Given the description of an element on the screen output the (x, y) to click on. 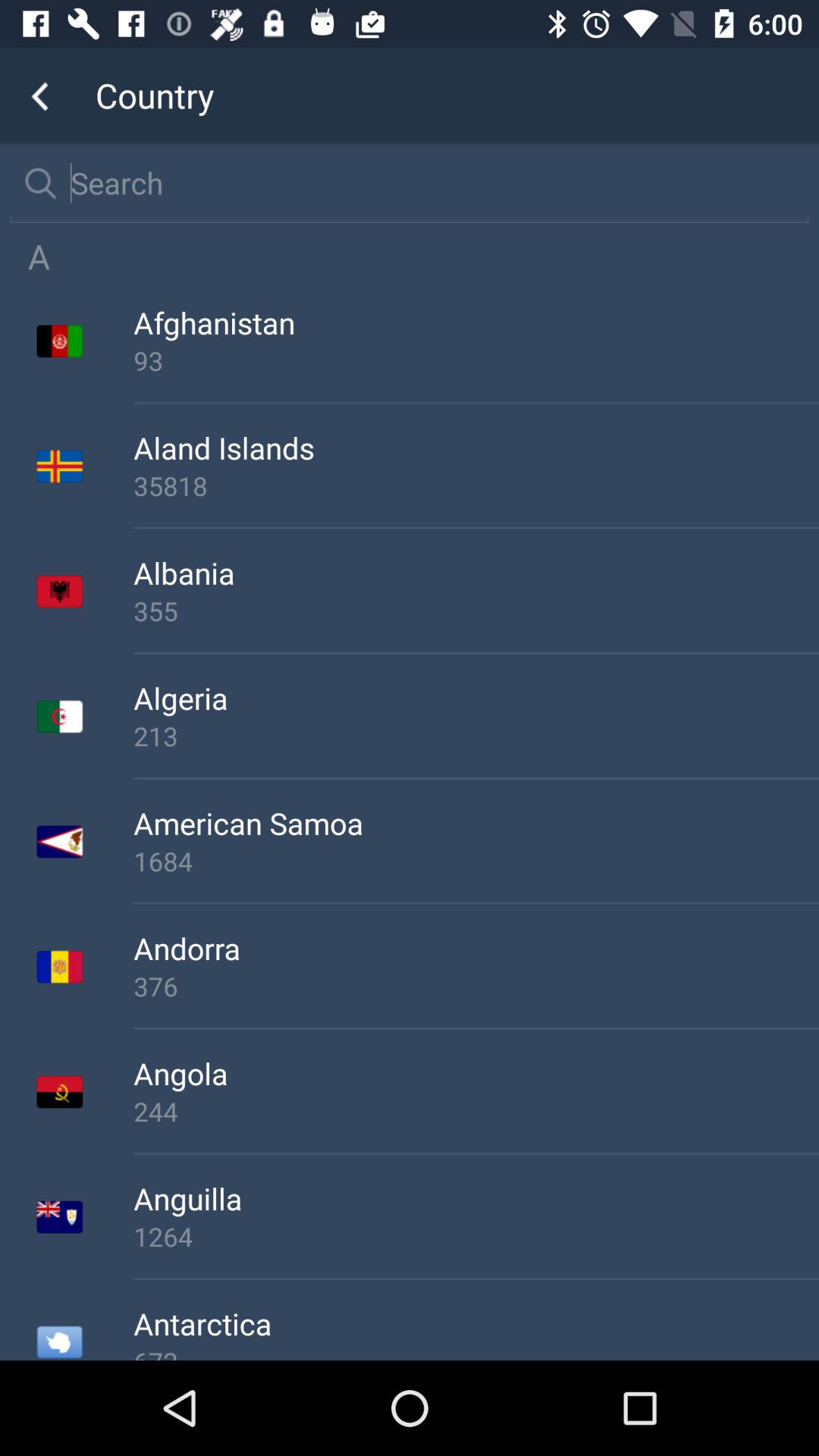
open the app below the aland islands icon (476, 485)
